Given the description of an element on the screen output the (x, y) to click on. 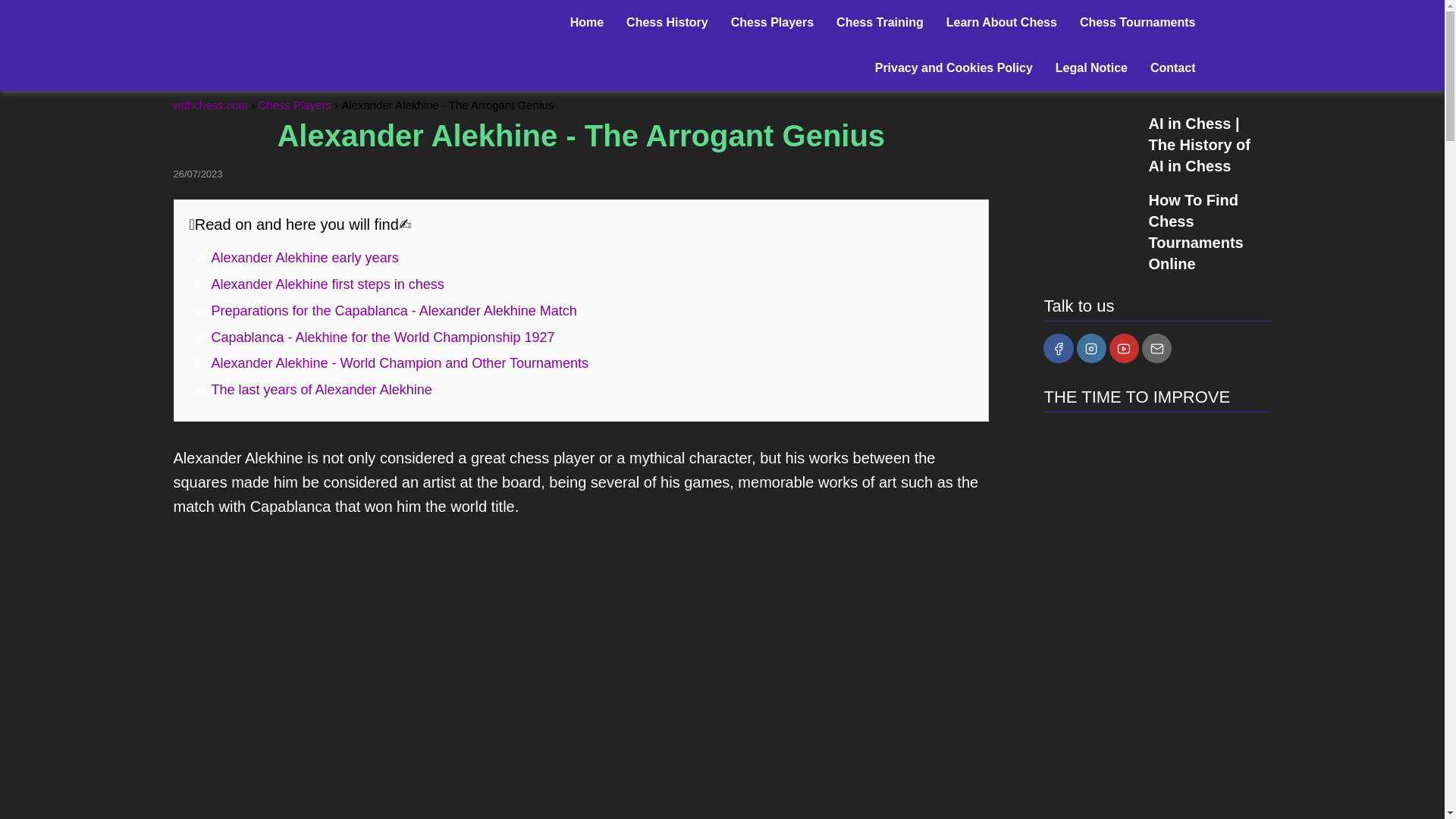
Privacy and Cookies Policy (953, 67)
Alexander Alekhine early years (304, 257)
Alexander Alekhine - World Champion and Other Tournaments (399, 363)
Alexander Alekhine first steps in chess (327, 283)
Alexander Alekhine - World Champion and Other Tournaments (399, 363)
Learn About Chess (1001, 21)
Alexander Alekhine first steps in chess (327, 283)
Capablanca - Alekhine for the World Championship 1927 (382, 337)
Chess Tournaments (1137, 21)
Chess Players (771, 21)
